Given the description of an element on the screen output the (x, y) to click on. 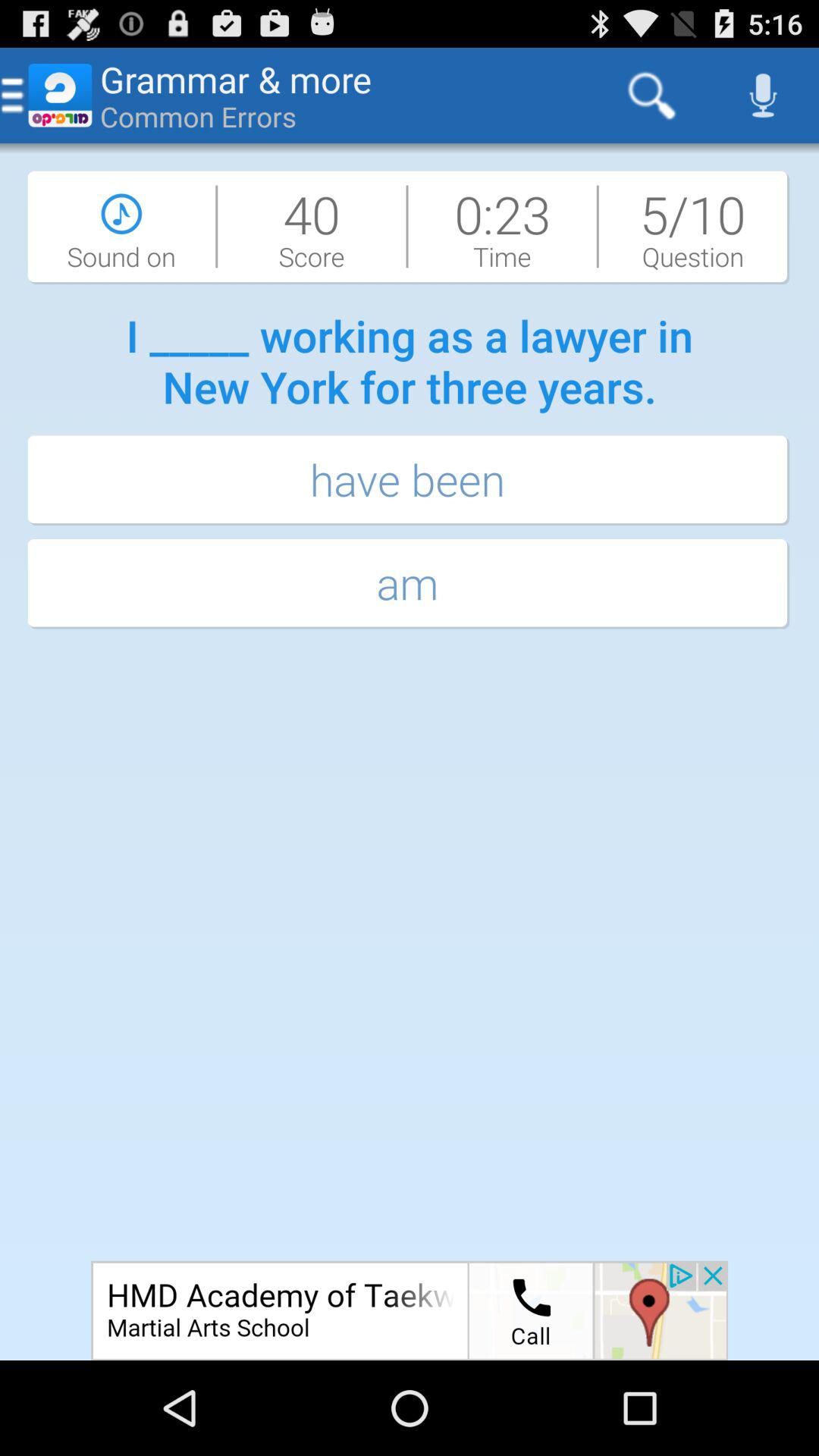
click on the icon at the top right corner of the page (763, 95)
